Given the description of an element on the screen output the (x, y) to click on. 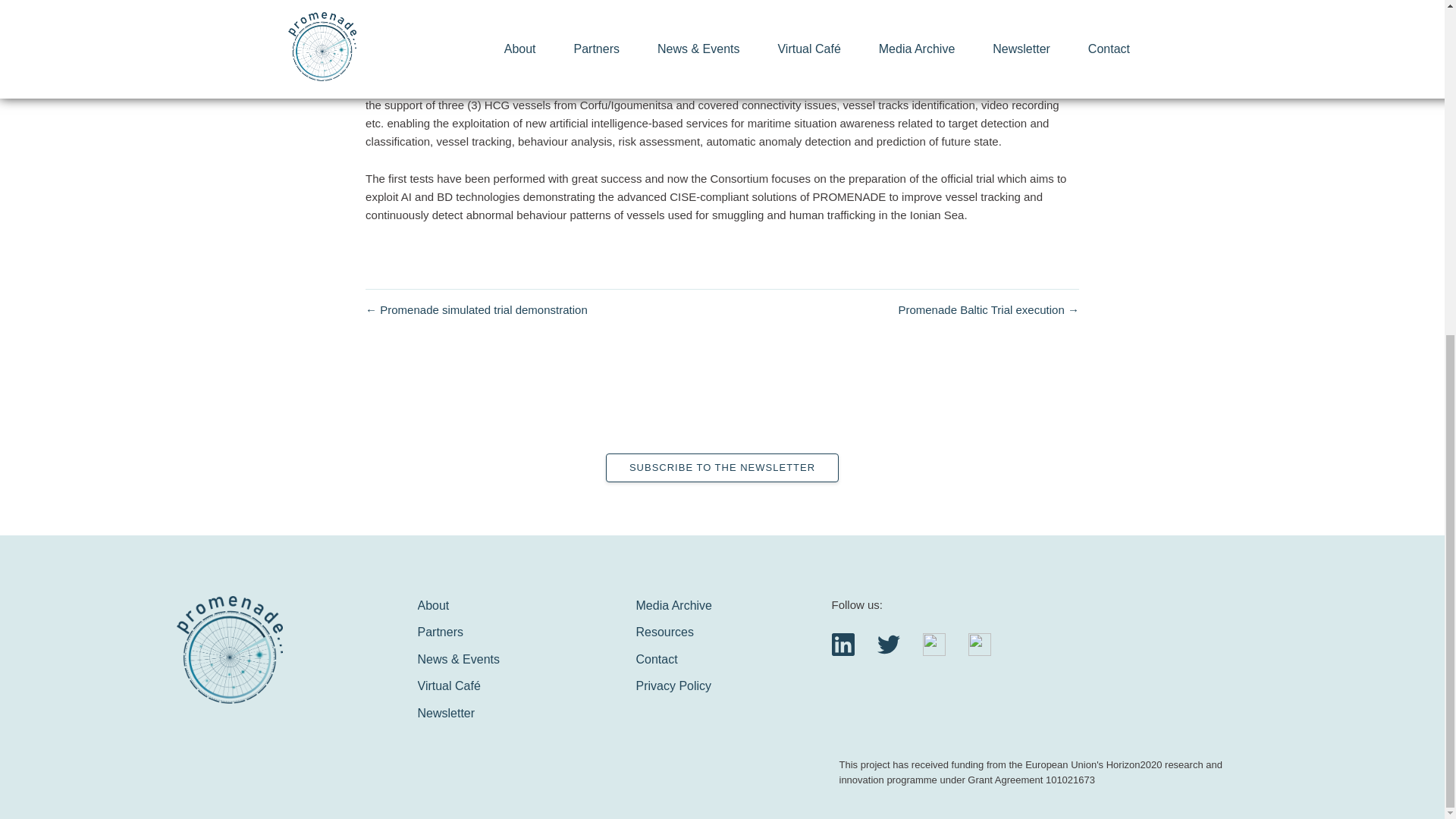
About (432, 604)
SUBSCRIBE TO THE NEWSLETTER (721, 467)
Partners (439, 631)
Newsletter (445, 712)
Resources (663, 631)
Contact (655, 658)
Media Archive (672, 604)
SUBSCRIBE TO THE NEWSLETTER (721, 467)
Privacy Policy (672, 685)
